Given the description of an element on the screen output the (x, y) to click on. 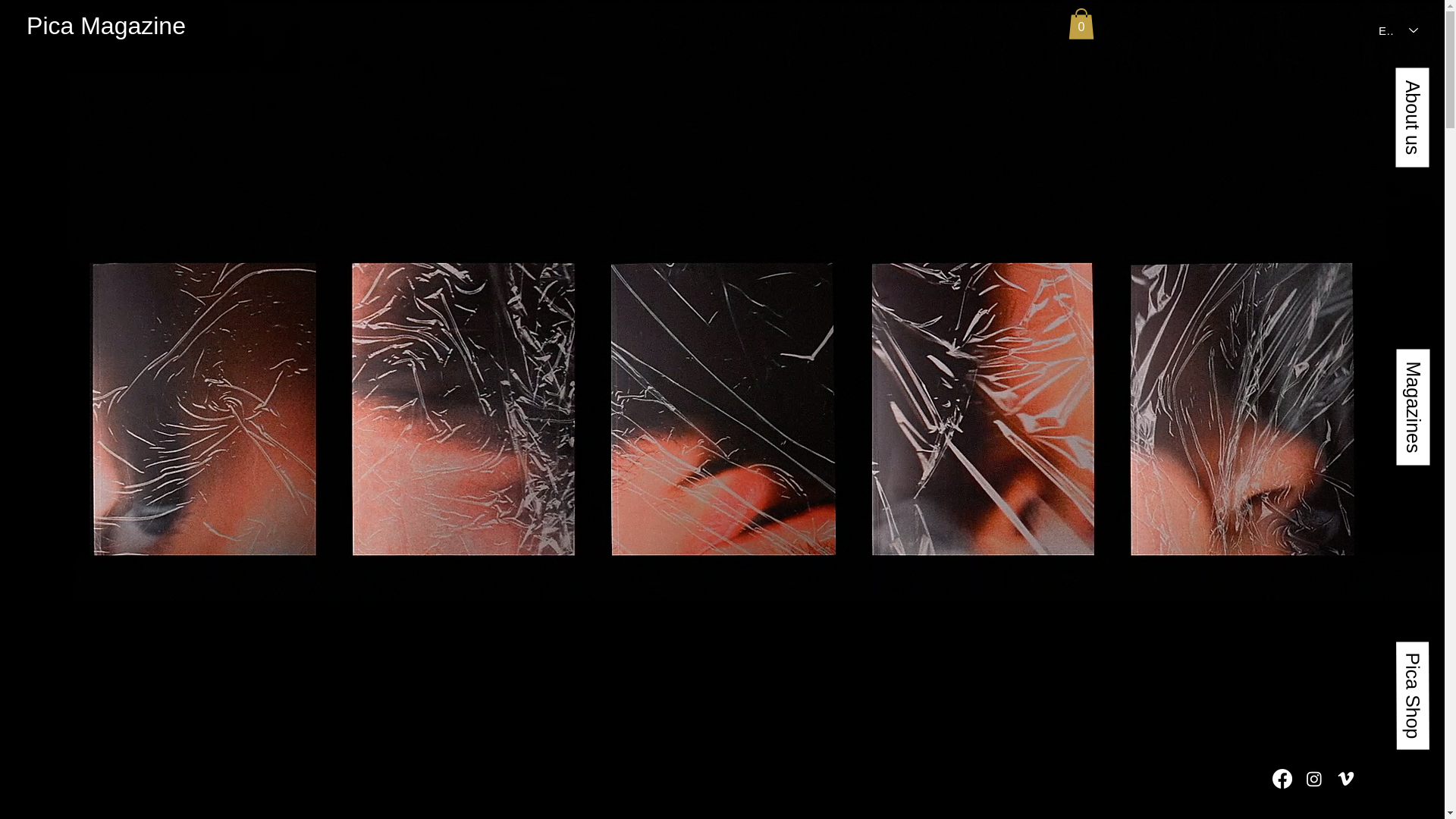
0 (1080, 23)
0 (1080, 23)
Pica Magazine (105, 25)
